Given the description of an element on the screen output the (x, y) to click on. 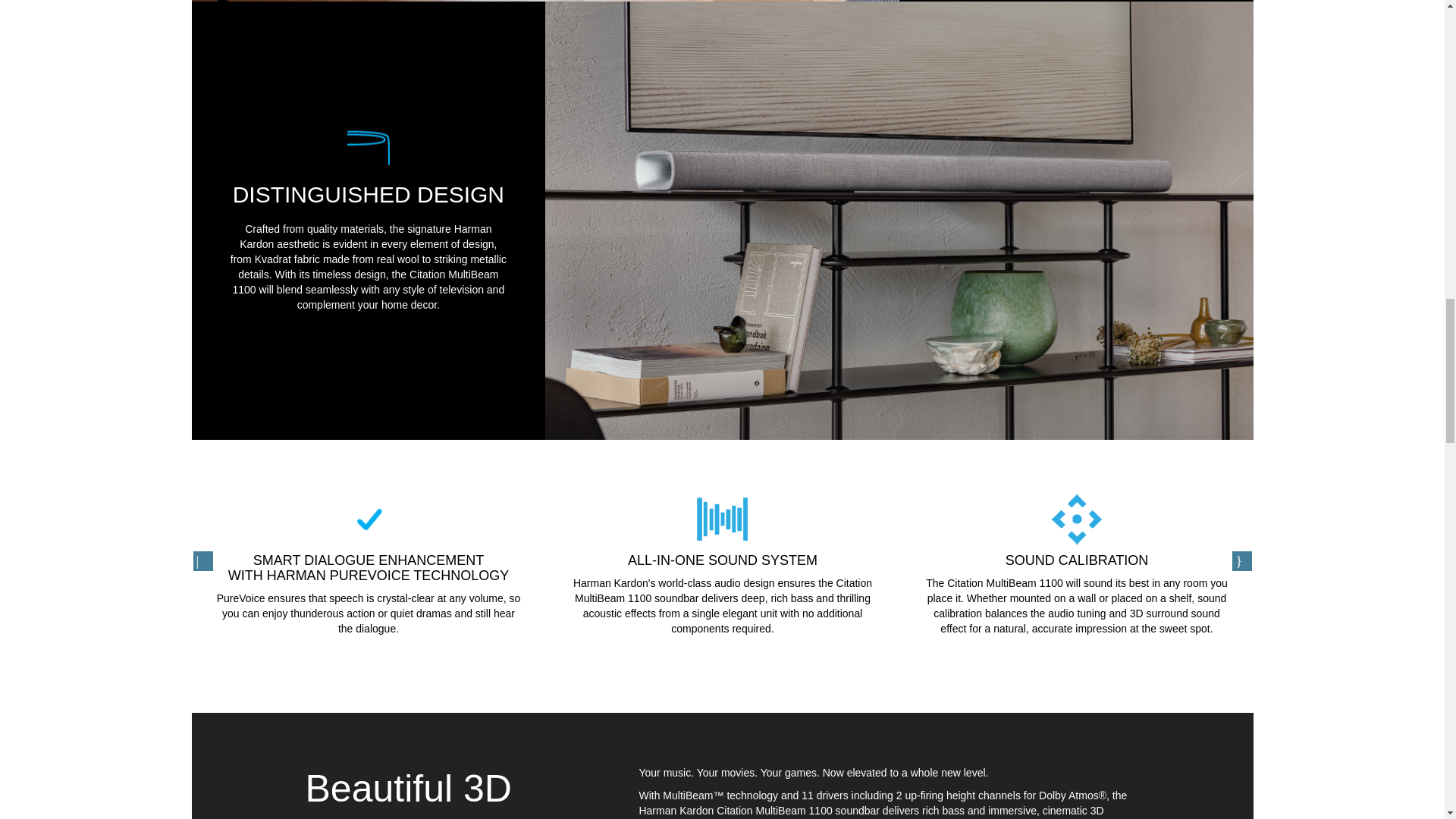
PREVIOUS (202, 560)
NEXT (1241, 560)
